Given the description of an element on the screen output the (x, y) to click on. 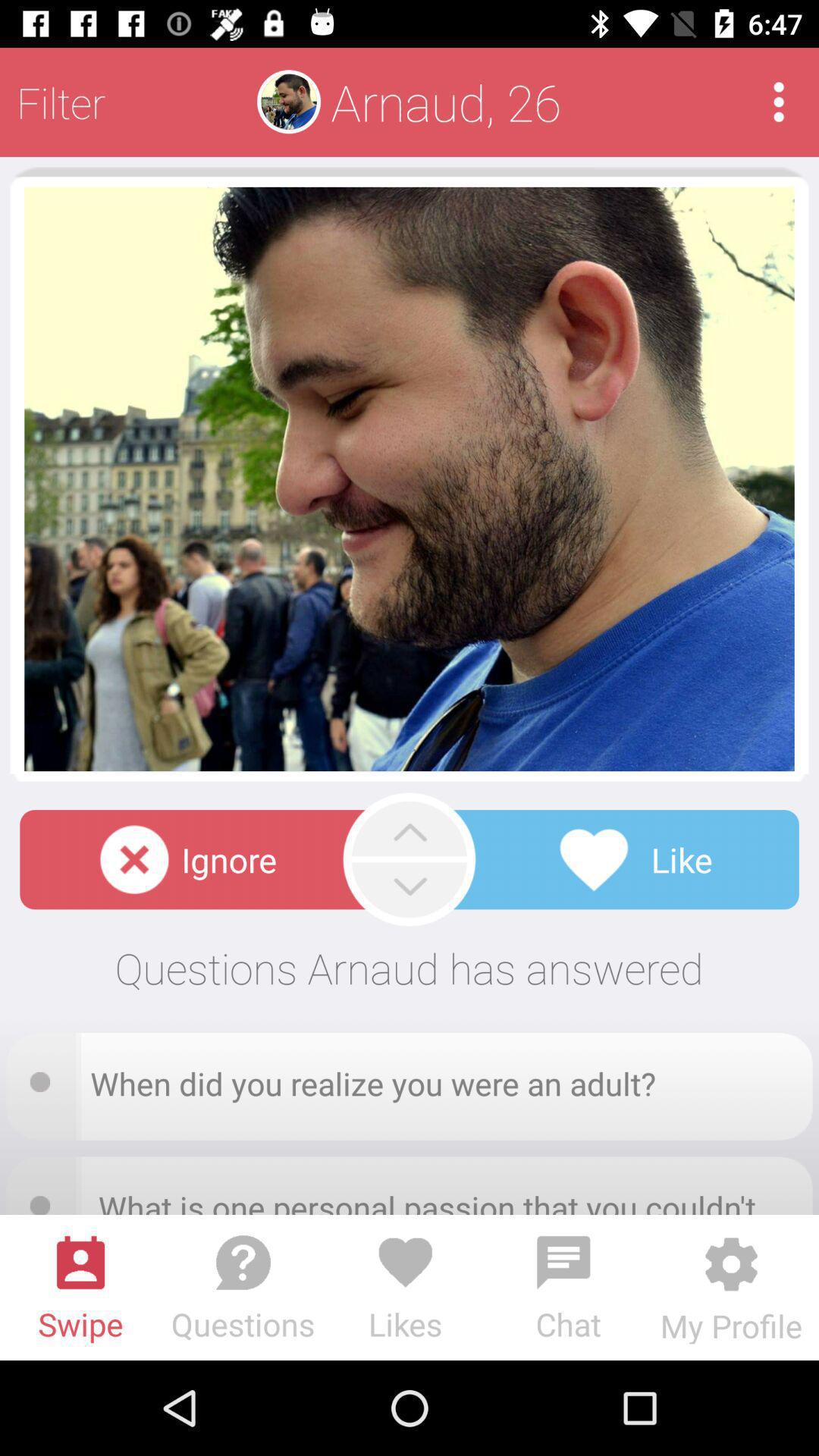
swipe to the filter app (61, 102)
